Given the description of an element on the screen output the (x, y) to click on. 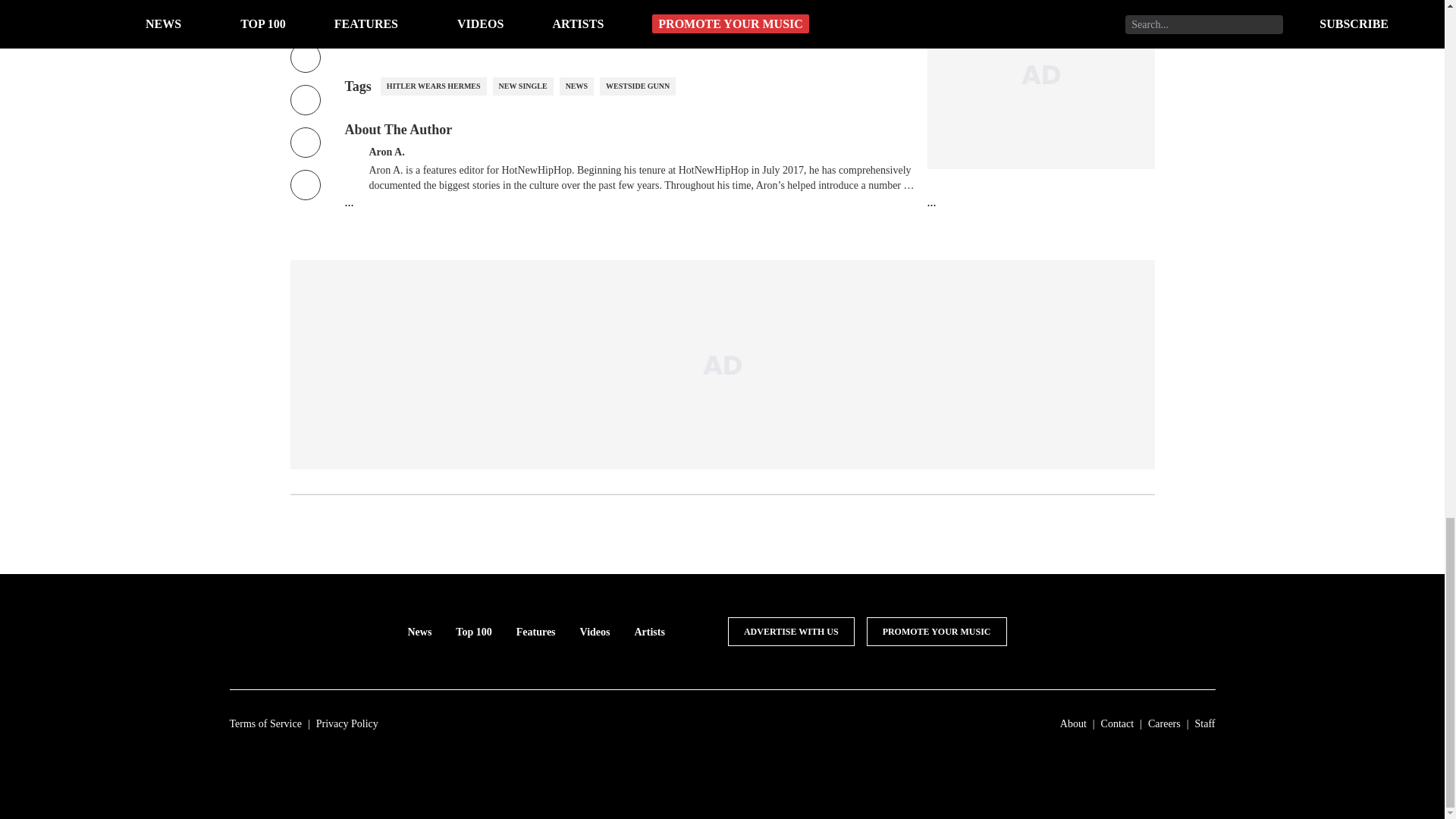
NEW SINGLE (523, 85)
NEWS (576, 85)
Aron A. (386, 150)
WESTSIDE GUNN (637, 85)
HITLER WEARS HERMES (433, 85)
